Given the description of an element on the screen output the (x, y) to click on. 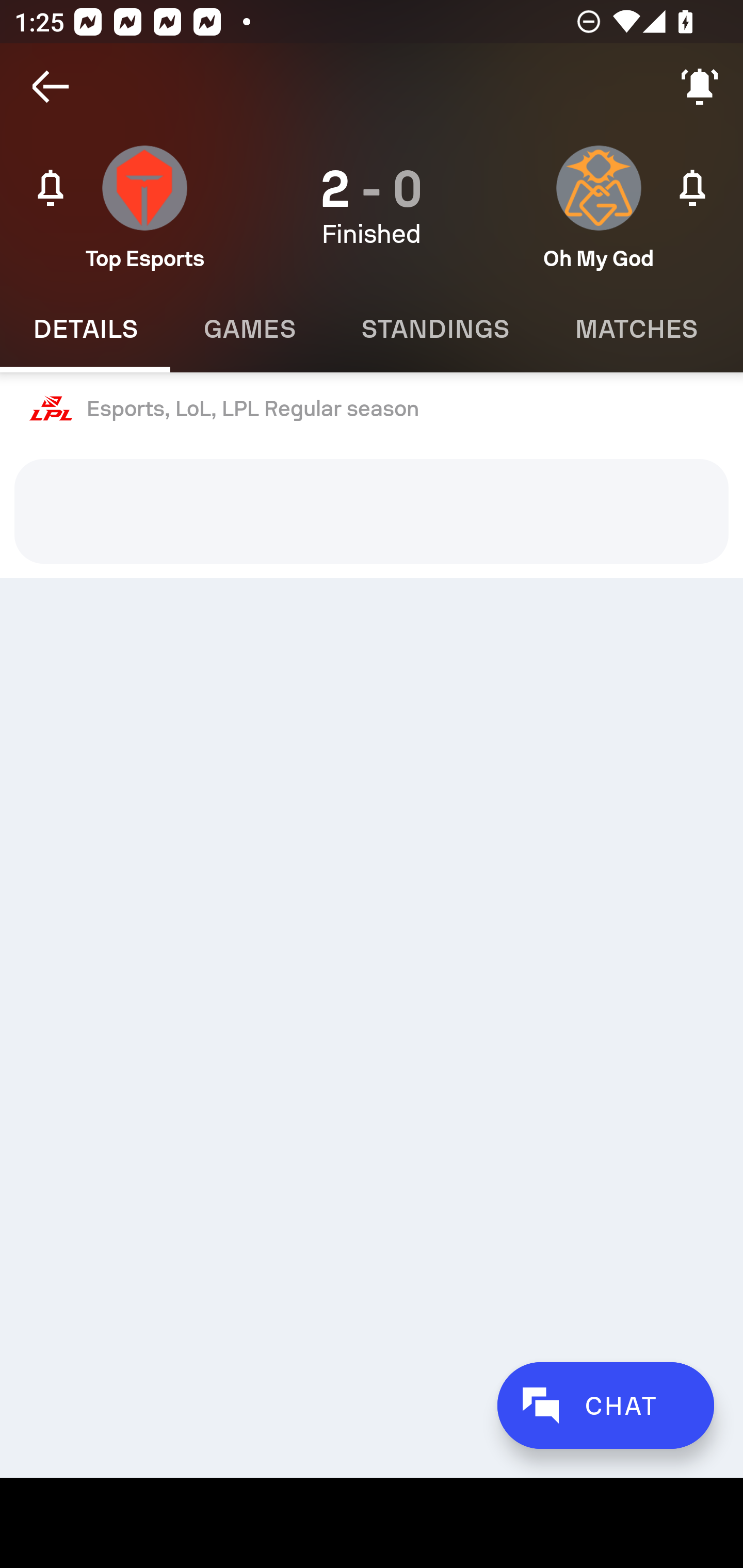
Navigate up (50, 86)
Games GAMES (249, 329)
Standings STANDINGS (434, 329)
Matches MATCHES (635, 329)
Esports, LoL, LPL Regular season (371, 409)
CHAT (605, 1405)
